Given the description of an element on the screen output the (x, y) to click on. 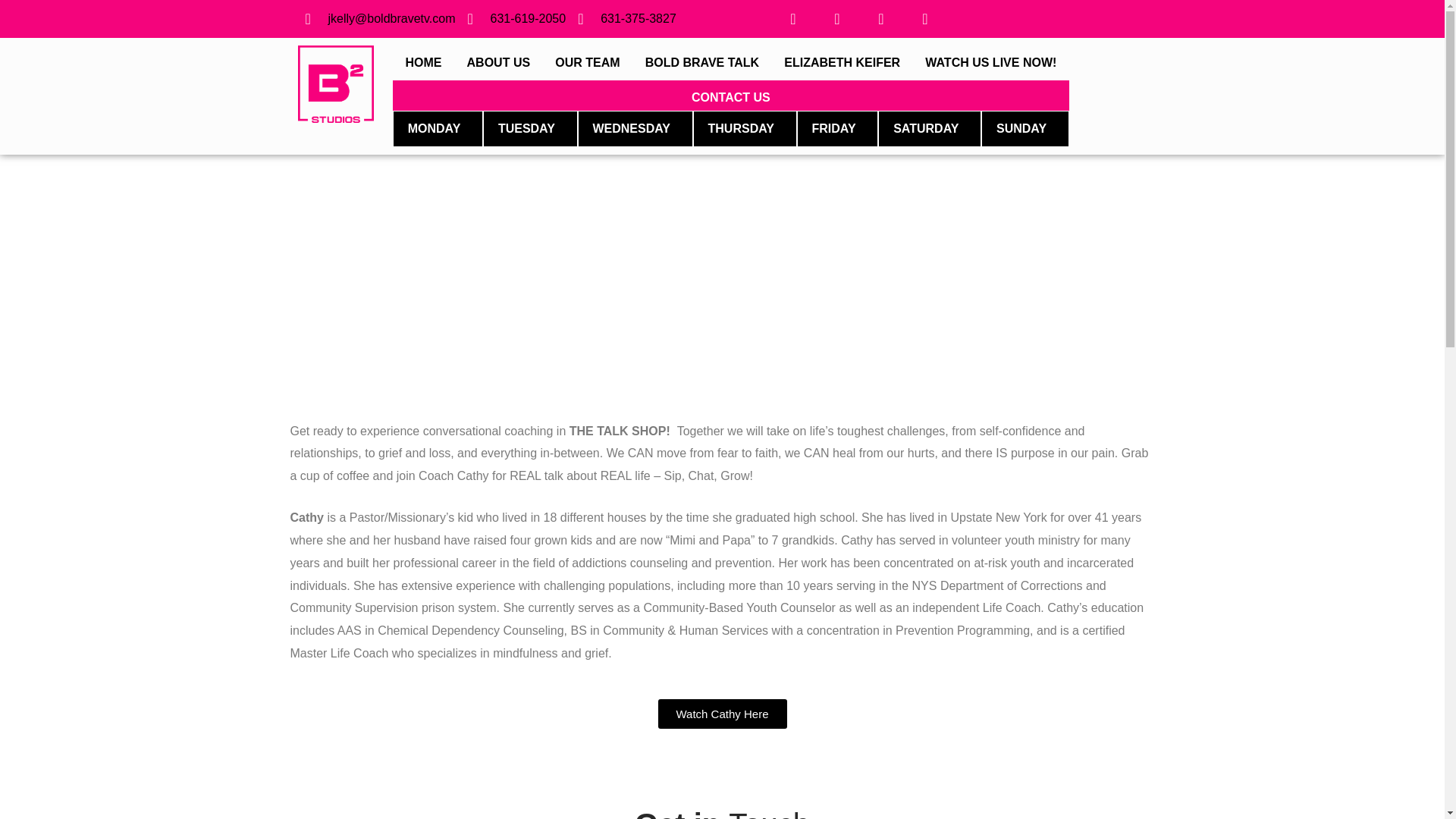
Twitter (837, 18)
Facebook (793, 18)
Youtube (880, 18)
Linkedin (925, 18)
631-375-3827 (627, 18)
631-619-2050 (516, 18)
